Given the description of an element on the screen output the (x, y) to click on. 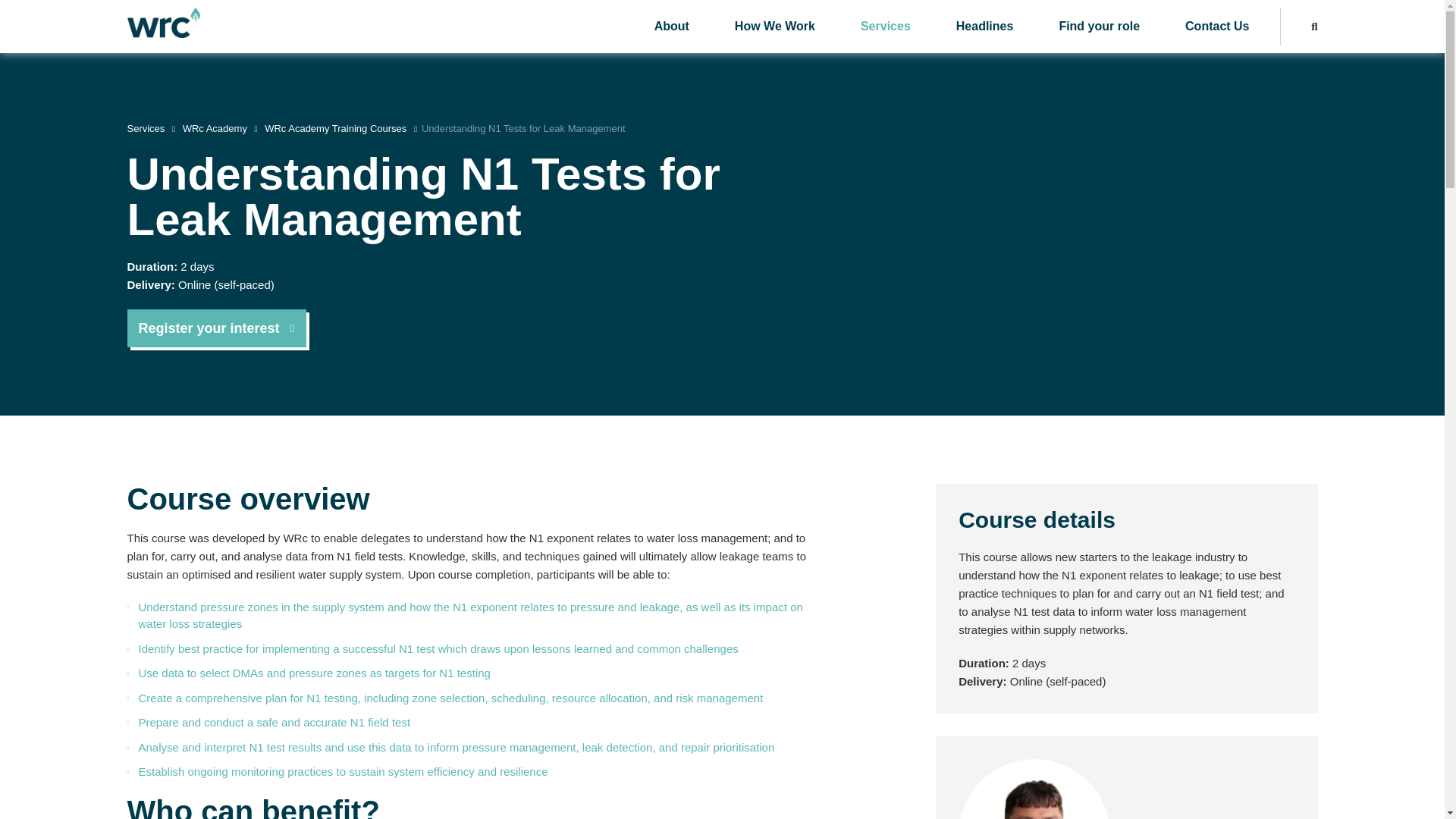
Register your interest (216, 328)
Headlines (984, 26)
Services (146, 128)
Services (885, 26)
WRc Academy (215, 128)
Find your role (1098, 26)
WRc Academy Training Courses (335, 128)
About (671, 26)
Register your interest (216, 328)
How We Work (774, 26)
